Given the description of an element on the screen output the (x, y) to click on. 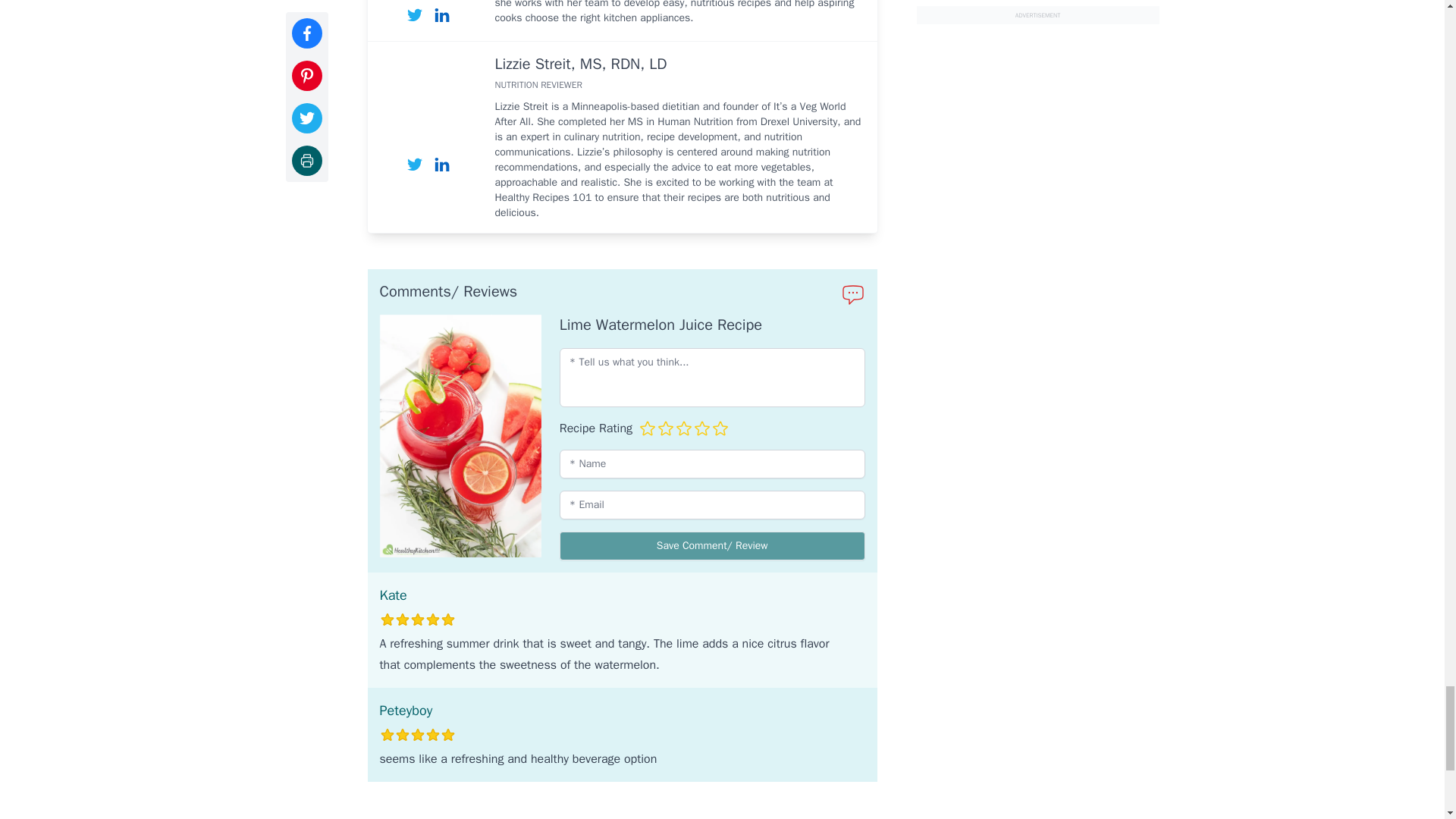
twitter Lizzie Streit, MS, RDN, LD (414, 164)
linkedIn Luna Regina (441, 14)
linkedIn Lizzie Streit, MS, RDN, LD (441, 164)
twitter Luna Regina (414, 14)
